Given the description of an element on the screen output the (x, y) to click on. 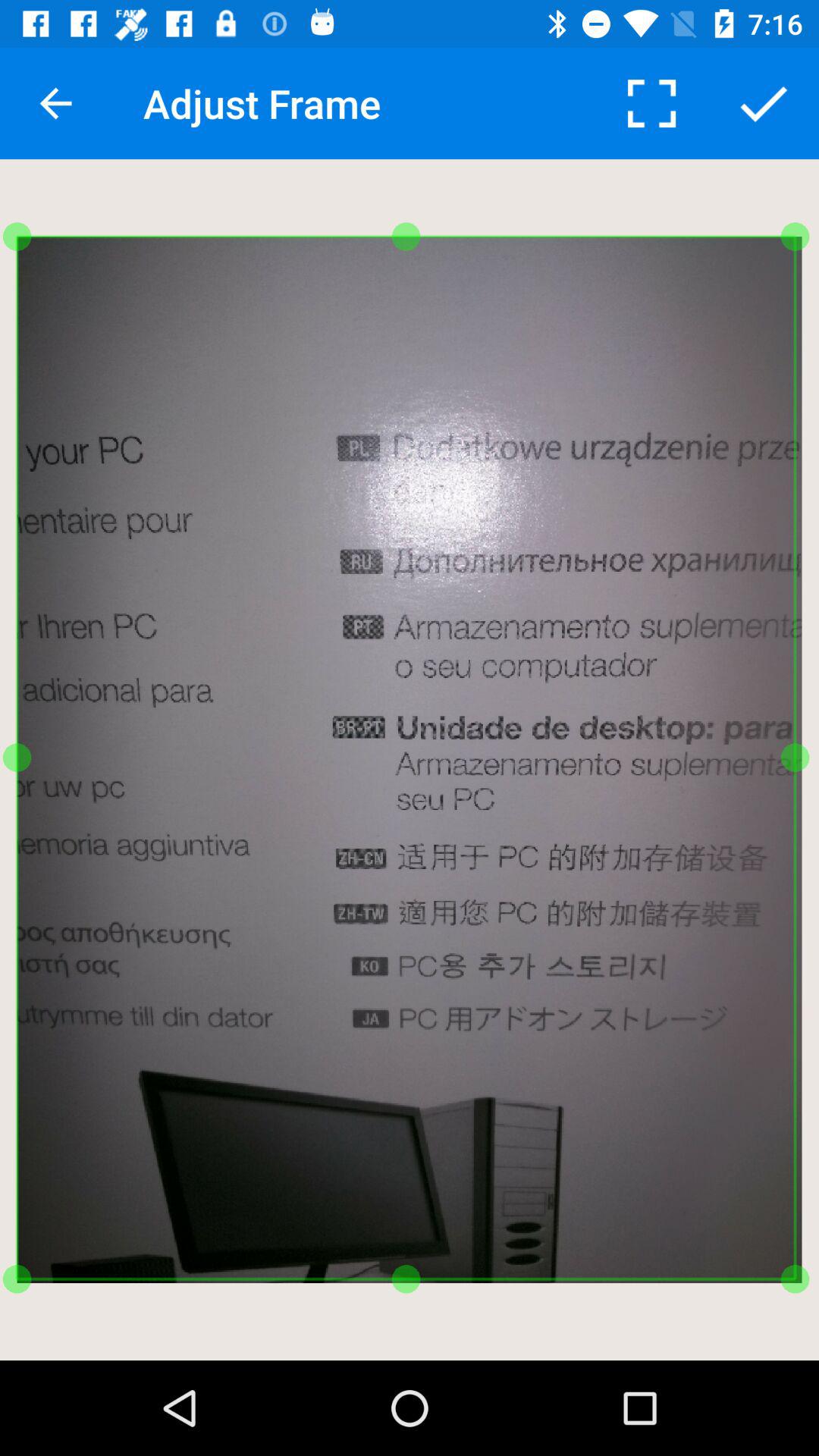
click item next to the adjust frame item (55, 103)
